Given the description of an element on the screen output the (x, y) to click on. 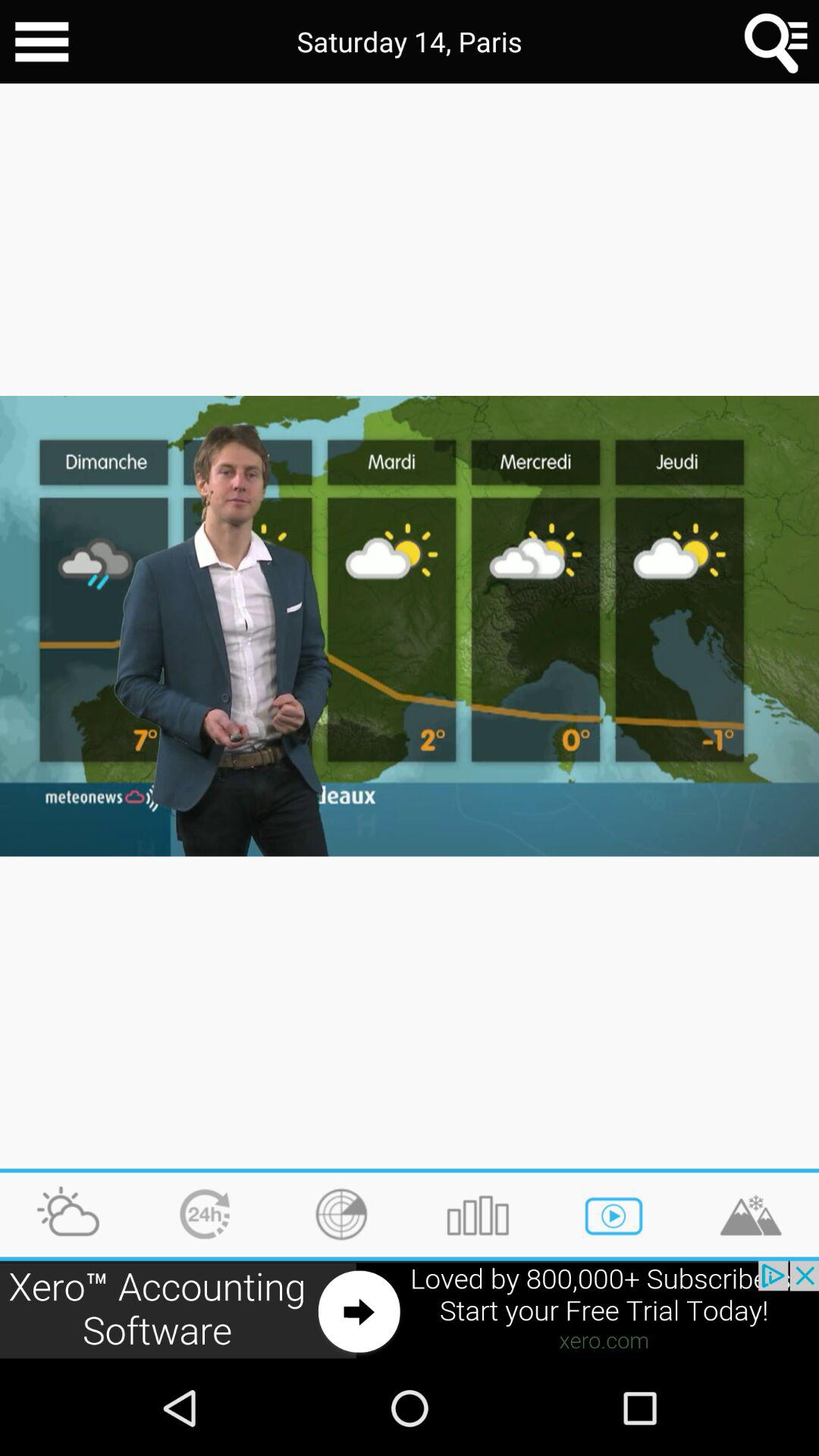
settings (41, 41)
